Given the description of an element on the screen output the (x, y) to click on. 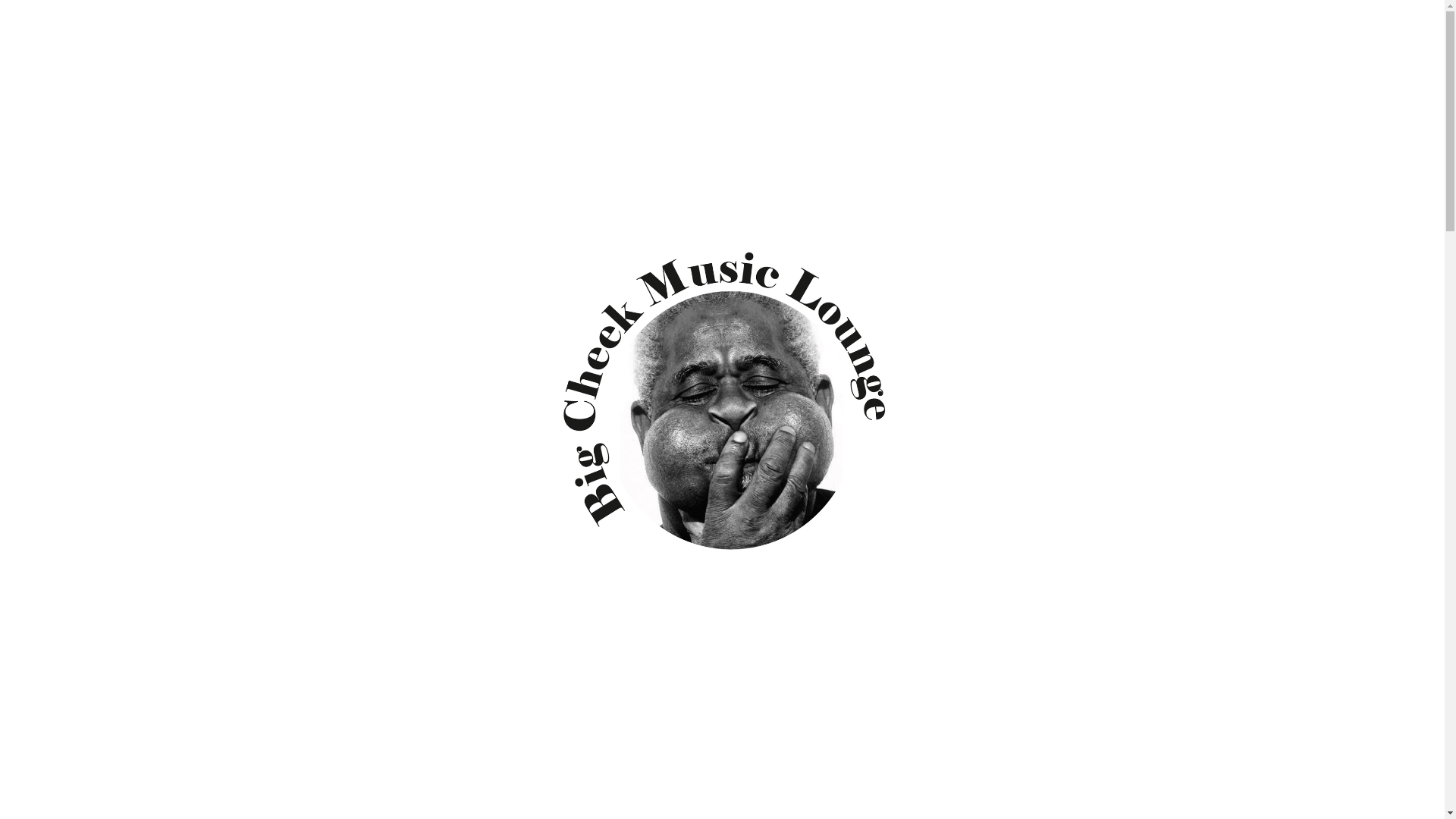
logo Element type: hover (721, 413)
